Given the description of an element on the screen output the (x, y) to click on. 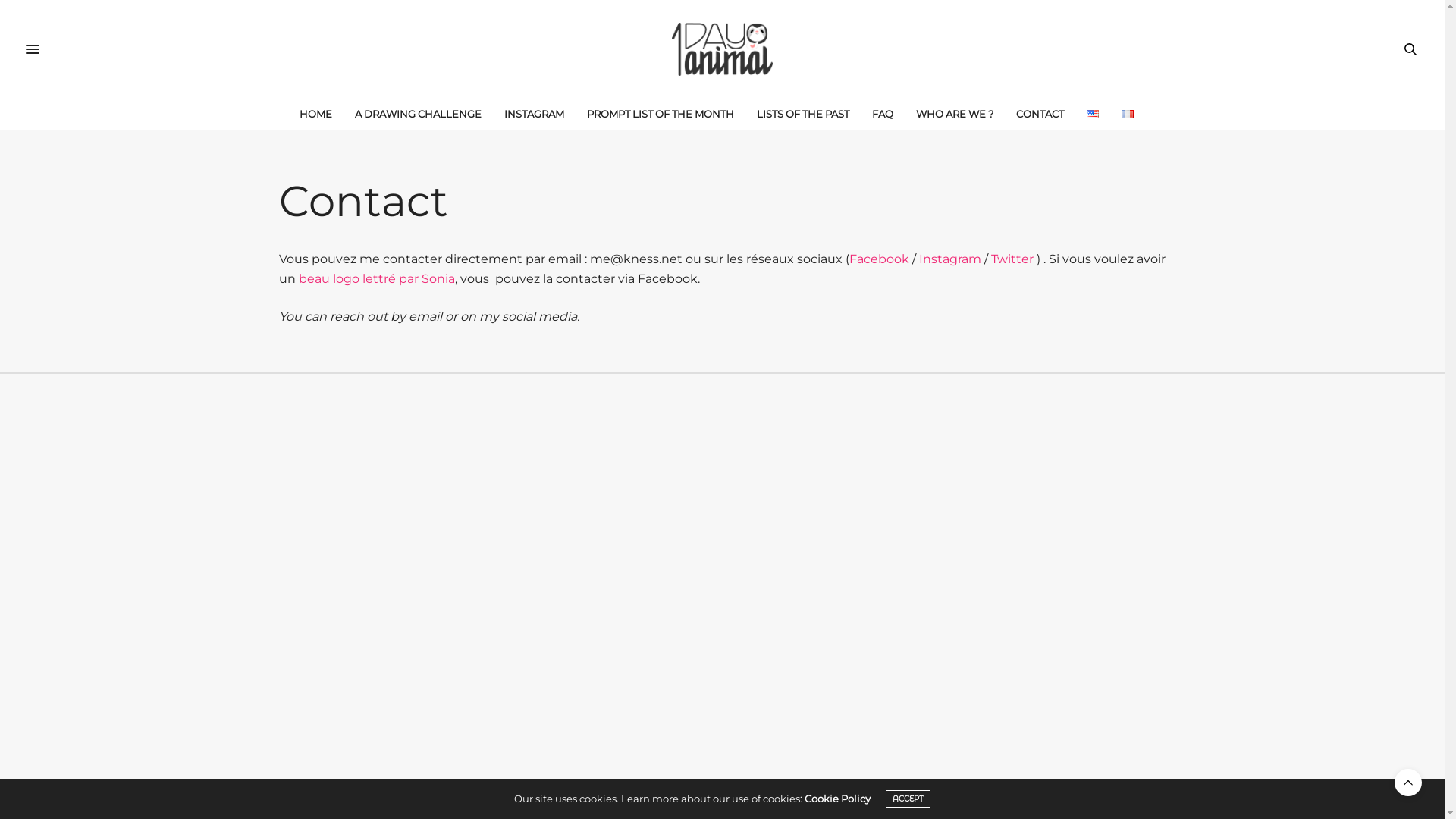
LISTS OF THE PAST Element type: text (802, 114)
HOME Element type: text (315, 114)
WHO ARE WE ? Element type: text (954, 114)
Facebook Element type: text (879, 258)
Scroll To Top Element type: hover (1407, 782)
INSTAGRAM Element type: text (534, 114)
CONTACT Element type: text (1039, 114)
A DRAWING CHALLENGE Element type: text (417, 114)
ACCEPT Element type: text (907, 798)
PROMPT LIST OF THE MONTH Element type: text (660, 114)
Instagram Element type: text (950, 258)
Cookie Policy Element type: text (837, 798)
English Element type: hover (1092, 113)
Twitter Element type: text (1011, 258)
FAQ Element type: text (882, 114)
